Given the description of an element on the screen output the (x, y) to click on. 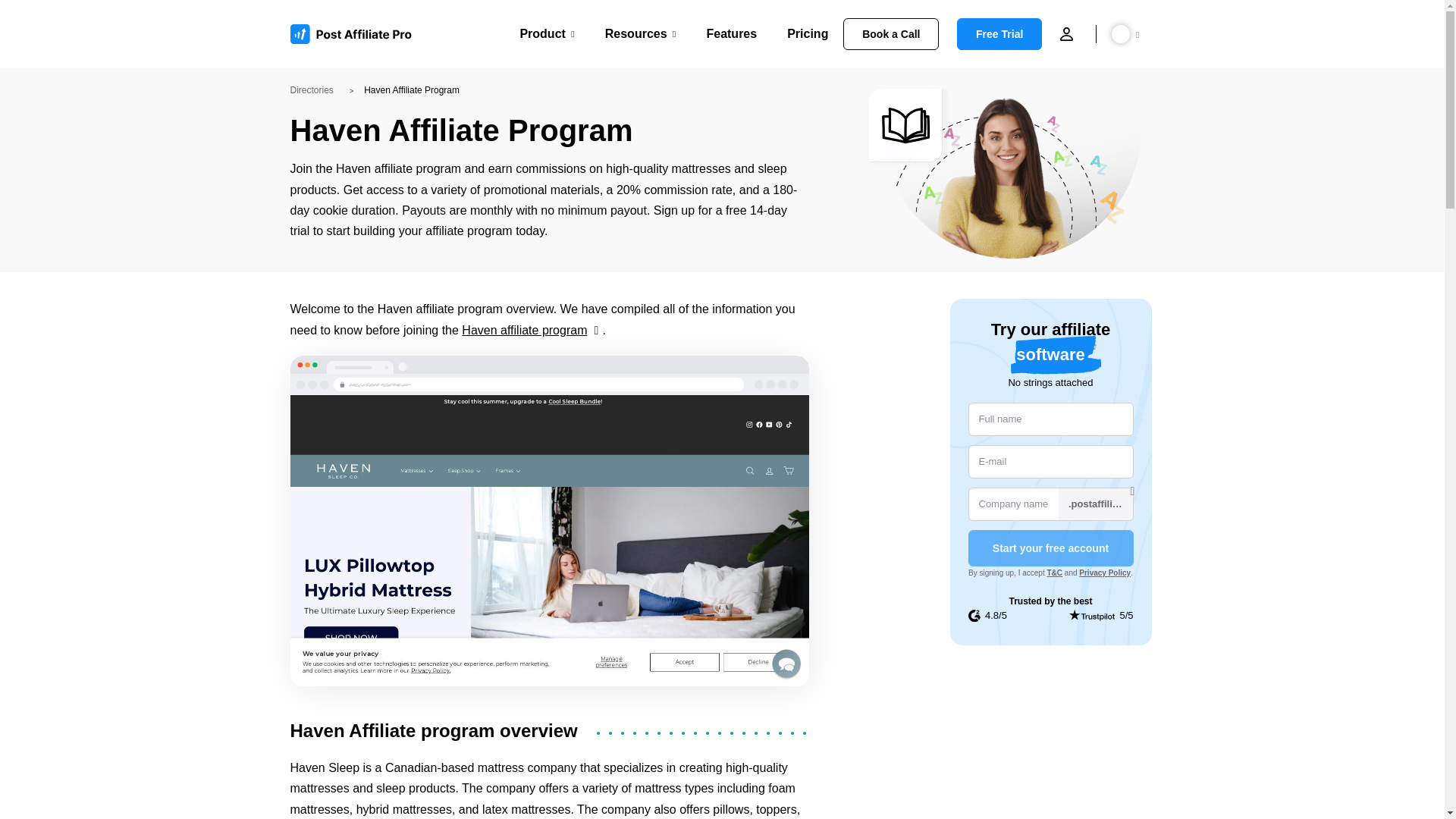
Features (731, 33)
Pricing (807, 33)
Product (546, 33)
Resources (641, 33)
PostAffiliatePro affiliate software (355, 34)
